Given the description of an element on the screen output the (x, y) to click on. 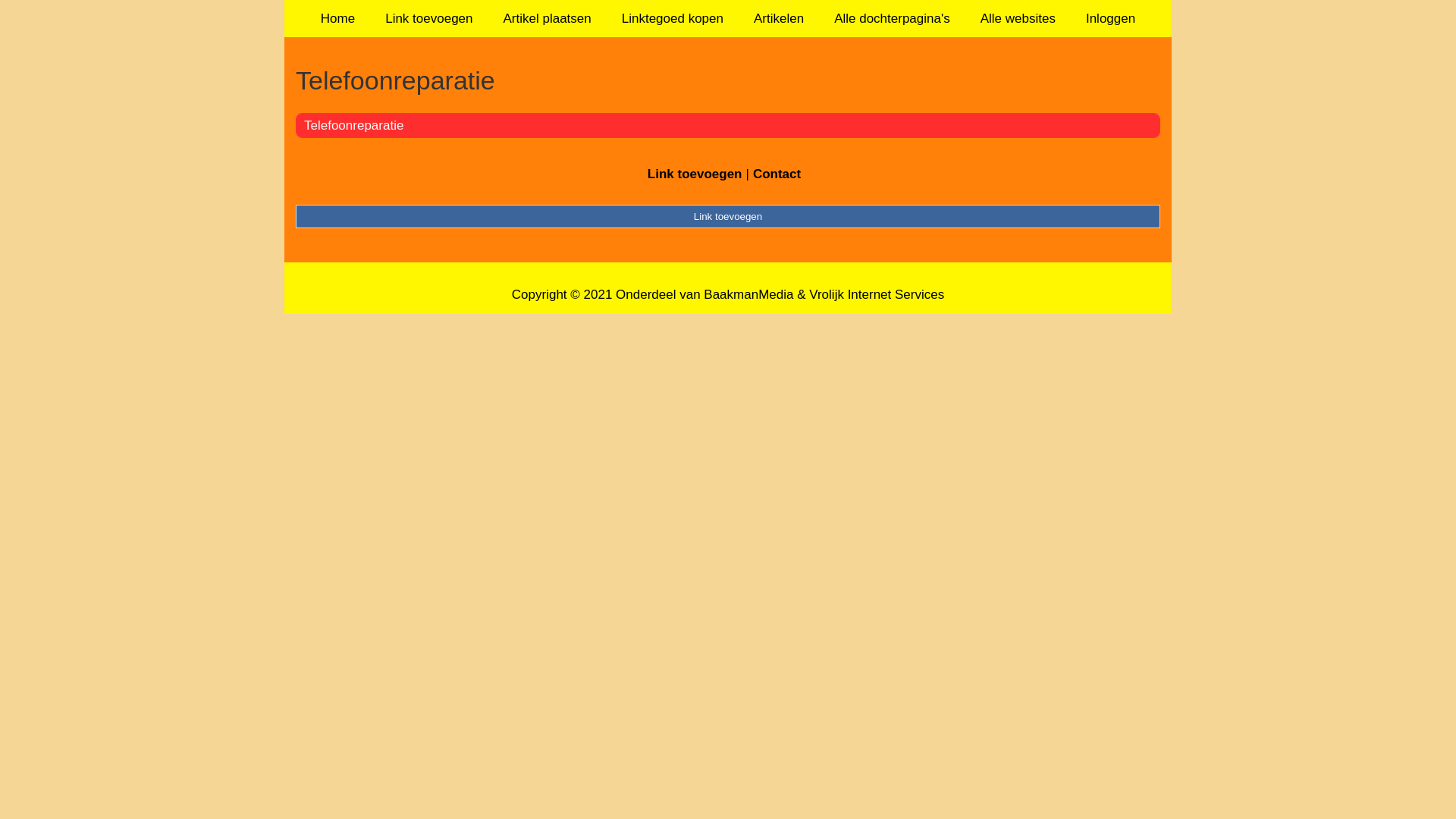
Home Element type: text (337, 18)
Link toevoegen Element type: text (694, 173)
BaakmanMedia Element type: text (748, 294)
Contact Element type: text (776, 173)
Telefoonreparatie Element type: text (353, 125)
Link toevoegen Element type: text (428, 18)
Vrolijk Internet Services Element type: text (876, 294)
Linktegoed kopen Element type: text (672, 18)
Alle dochterpagina's Element type: text (892, 18)
Telefoonreparatie Element type: text (727, 80)
Artikelen Element type: text (778, 18)
Artikel plaatsen Element type: text (547, 18)
Inloggen Element type: text (1110, 18)
Link toevoegen Element type: text (727, 215)
Alle websites Element type: text (1017, 18)
